Given the description of an element on the screen output the (x, y) to click on. 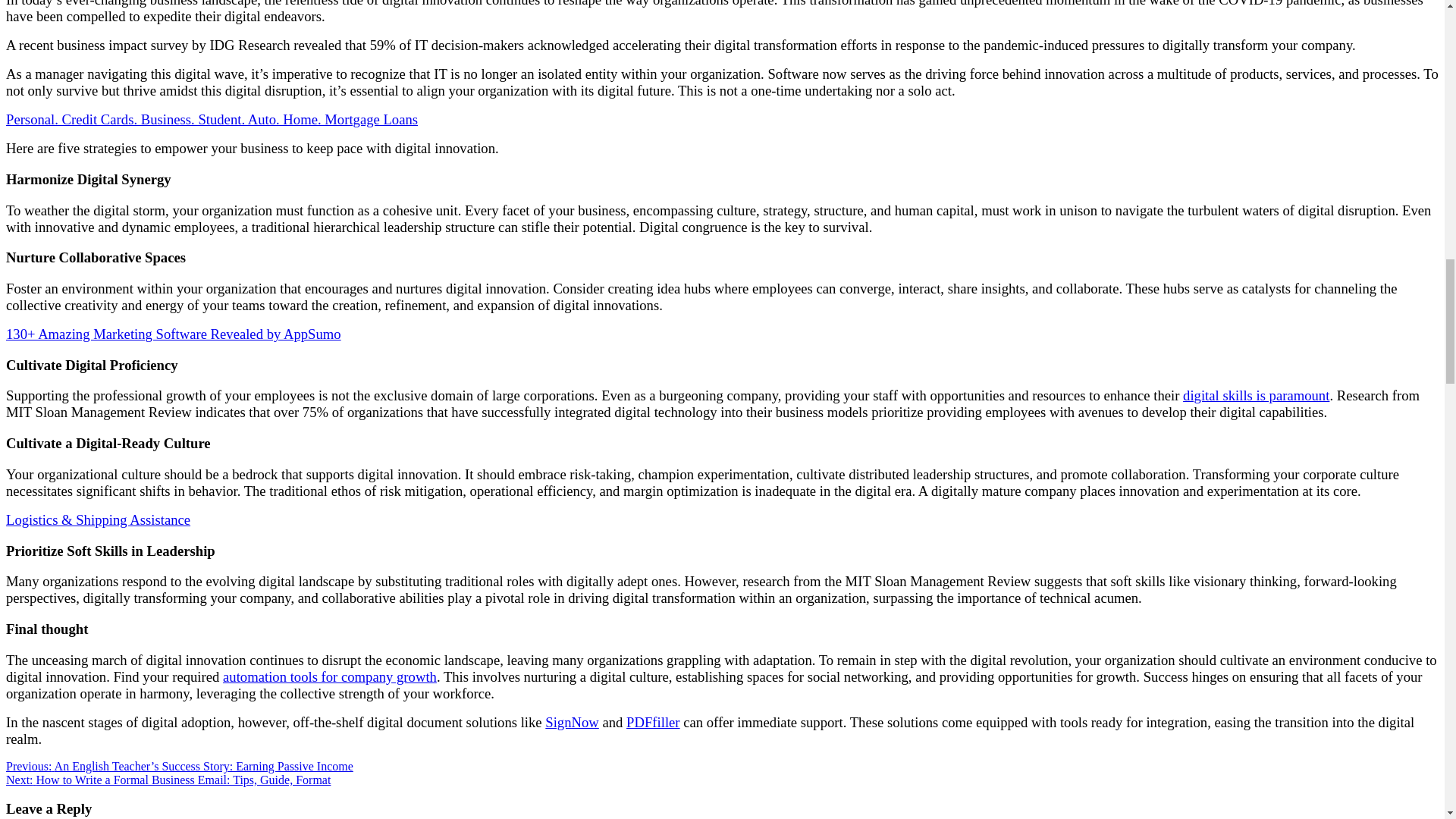
SignNow (571, 722)
automation tools for company growth (329, 676)
PDFfiller (652, 722)
digital skills is paramount (1255, 395)
